Given the description of an element on the screen output the (x, y) to click on. 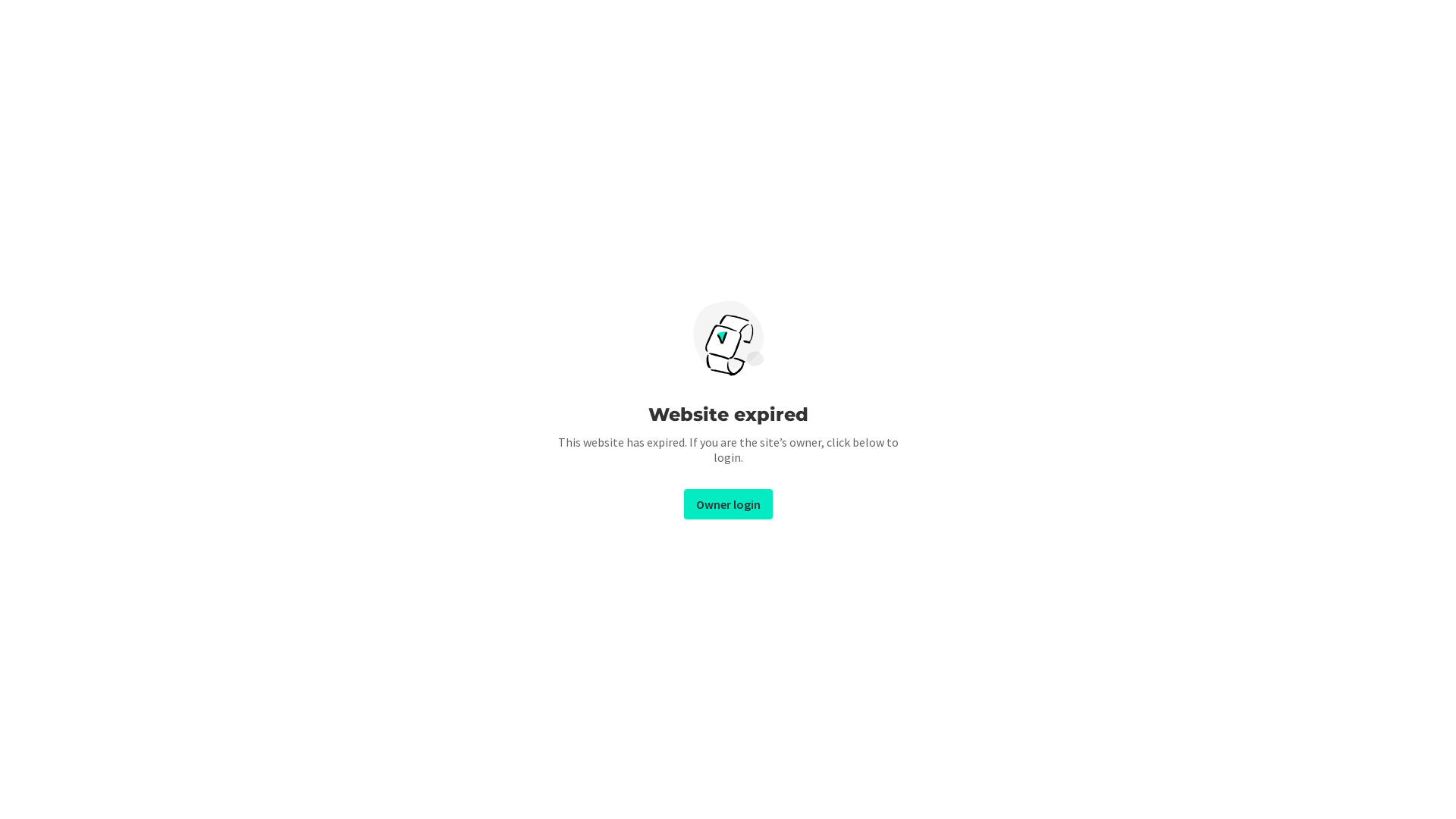
Owner login Element type: text (728, 504)
